Given the description of an element on the screen output the (x, y) to click on. 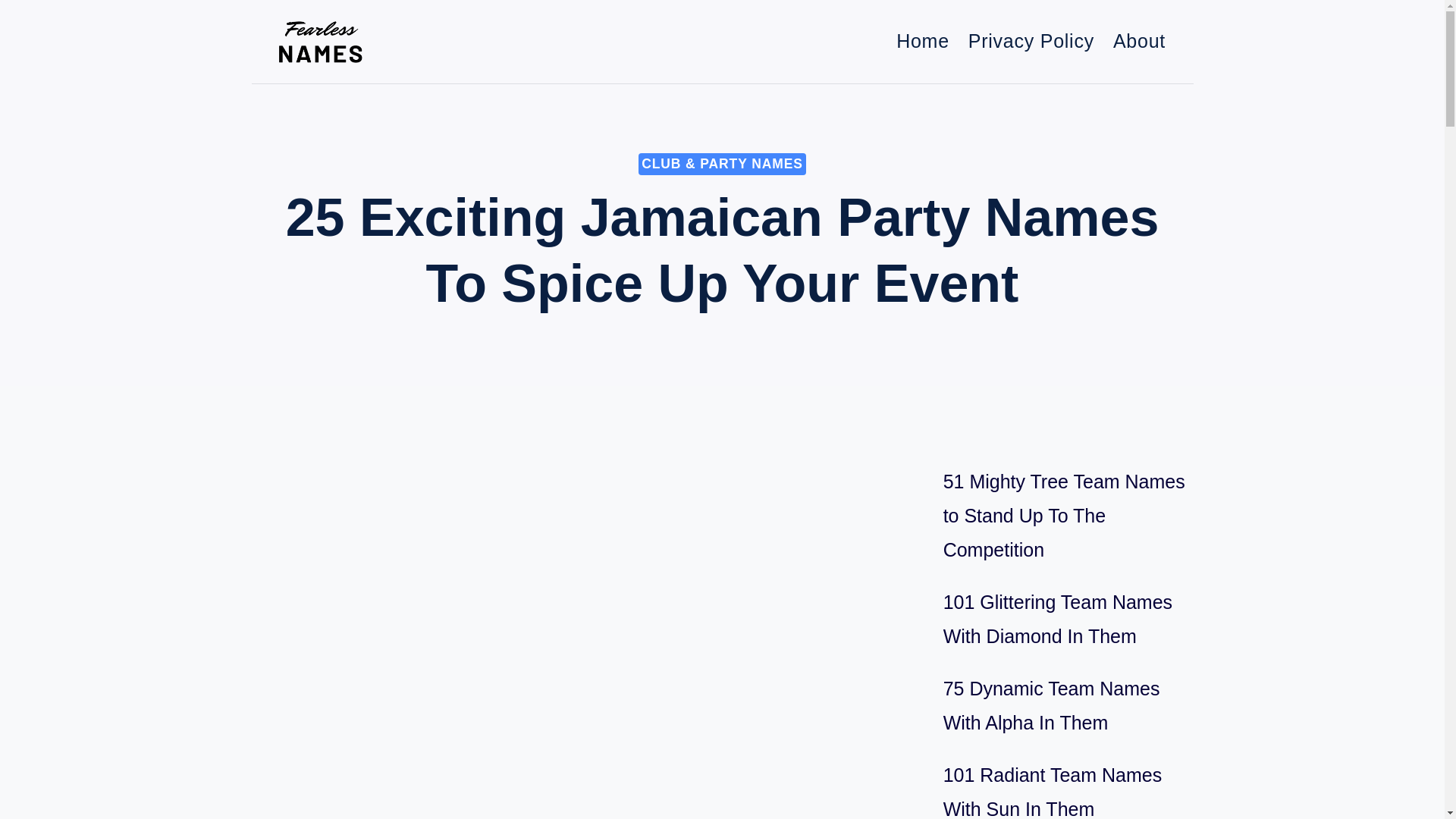
Privacy Policy (1030, 41)
51 Mighty Tree Team Names to Stand Up To The Competition (1064, 515)
101 Radiant Team Names With Sun In Them (1052, 791)
101 Glittering Team Names With Diamond In Them (1057, 619)
About (1138, 41)
Home (922, 41)
75 Dynamic Team Names With Alpha In Them (1051, 705)
